Given the description of an element on the screen output the (x, y) to click on. 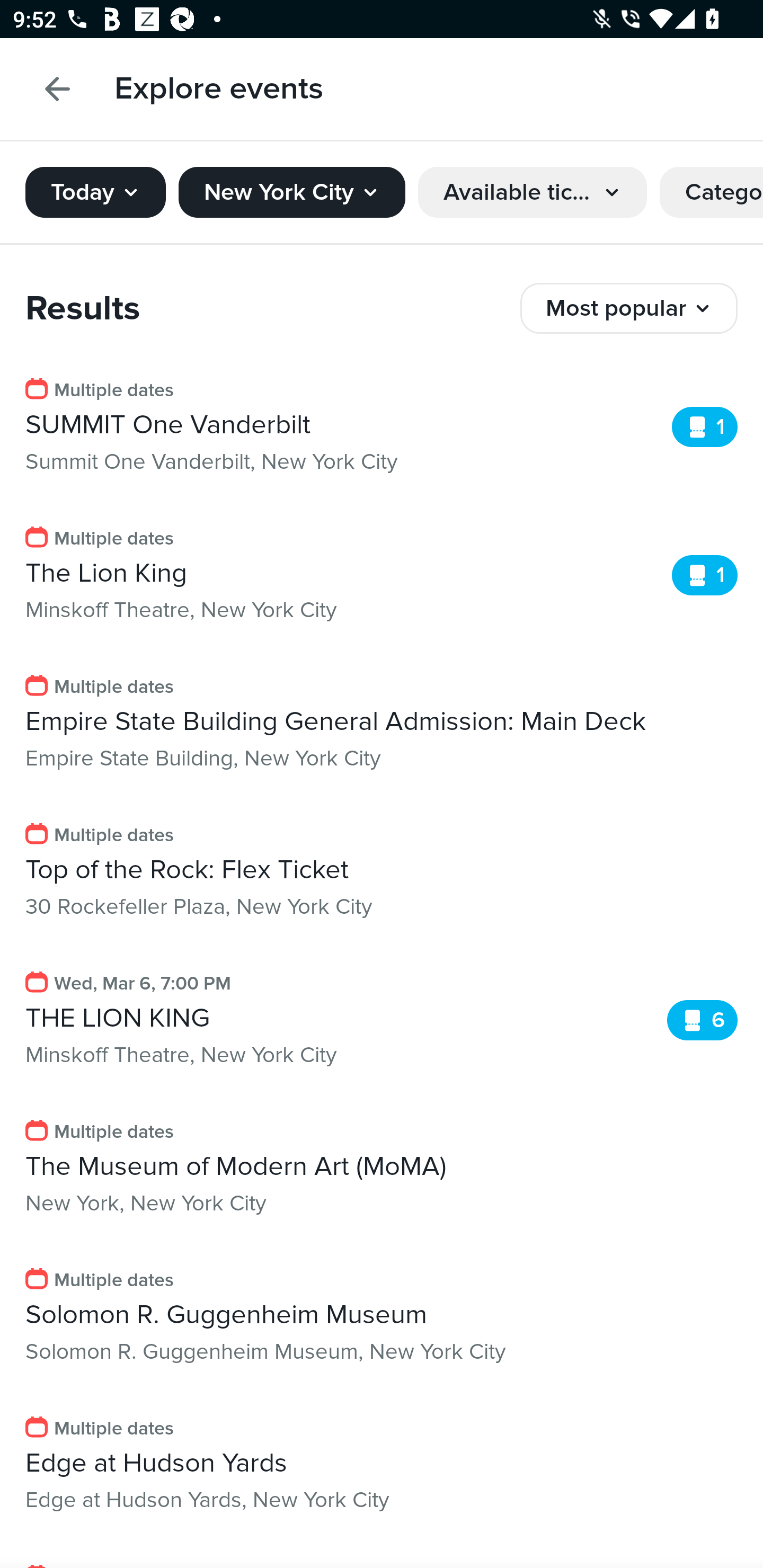
Today (95, 191)
New York City (291, 191)
Available tickets (532, 191)
Most popular (628, 307)
